Given the description of an element on the screen output the (x, y) to click on. 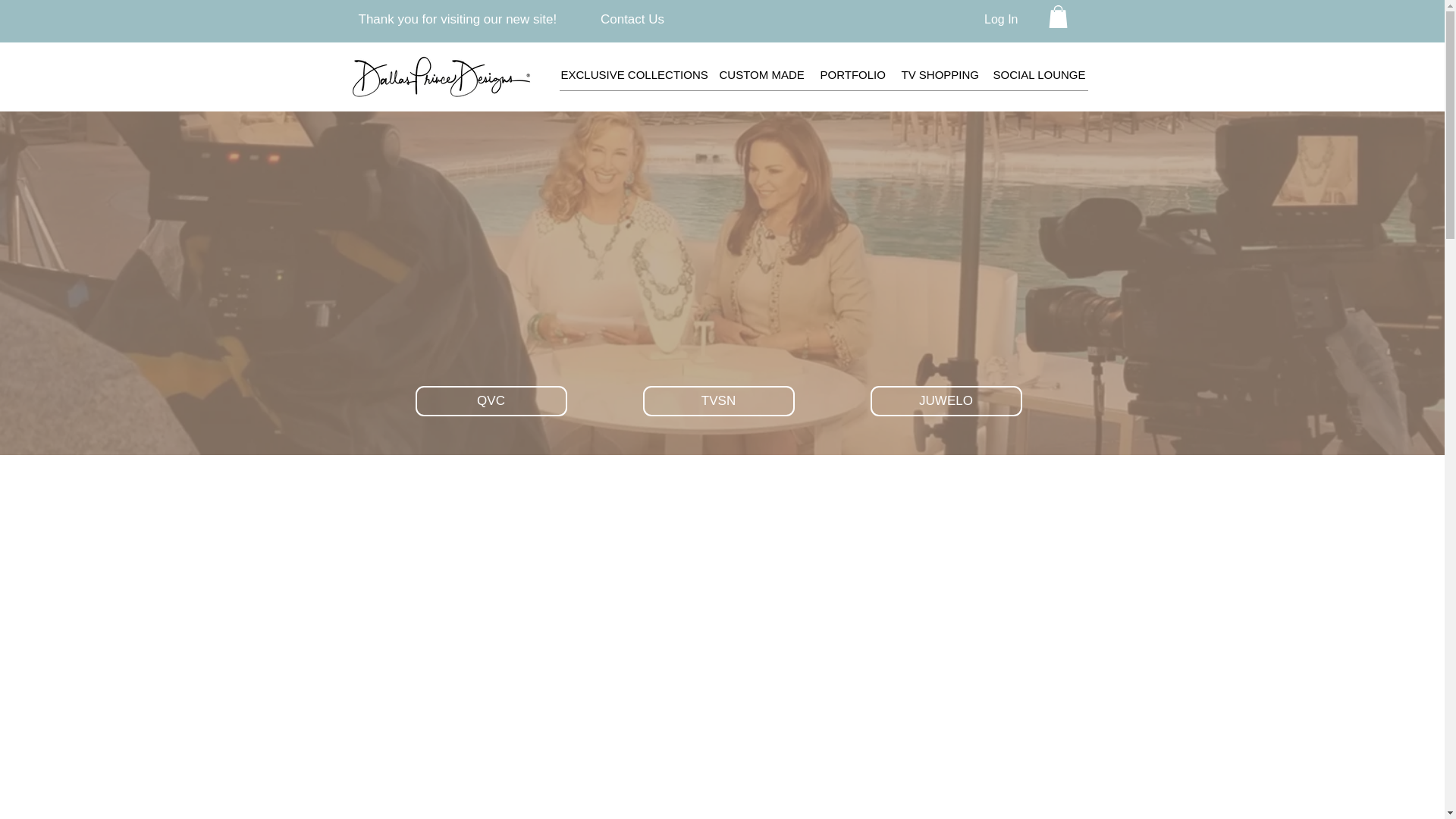
SOCIAL LOUNGE (1039, 74)
PORTFOLIO (852, 74)
QVC (490, 400)
Thank you for visiting our new site! (457, 19)
EXCLUSIVE COLLECTIONS (632, 74)
JUWELO (946, 400)
TV SHOPPING (939, 74)
Contact Us (631, 19)
TVSN (718, 400)
CUSTOM MADE (761, 74)
